Given the description of an element on the screen output the (x, y) to click on. 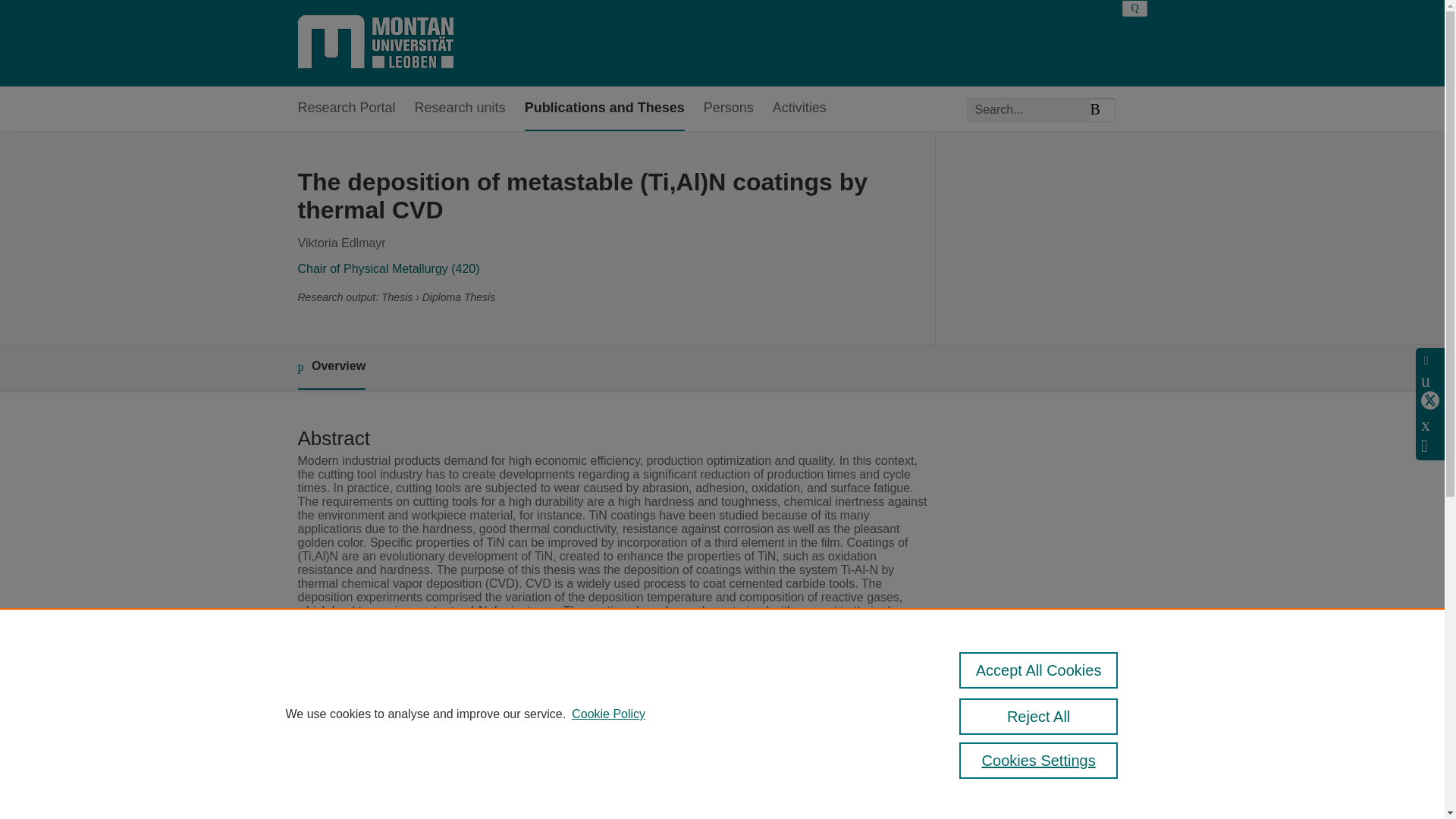
Reject All (1038, 716)
Accept All Cookies (1038, 669)
Persons (728, 108)
Activities (800, 108)
Research Portal (345, 108)
Cookie Policy (608, 713)
Research units (459, 108)
Cookies Settings (1038, 760)
Publications and Theses (604, 108)
Overview (331, 366)
